Given the description of an element on the screen output the (x, y) to click on. 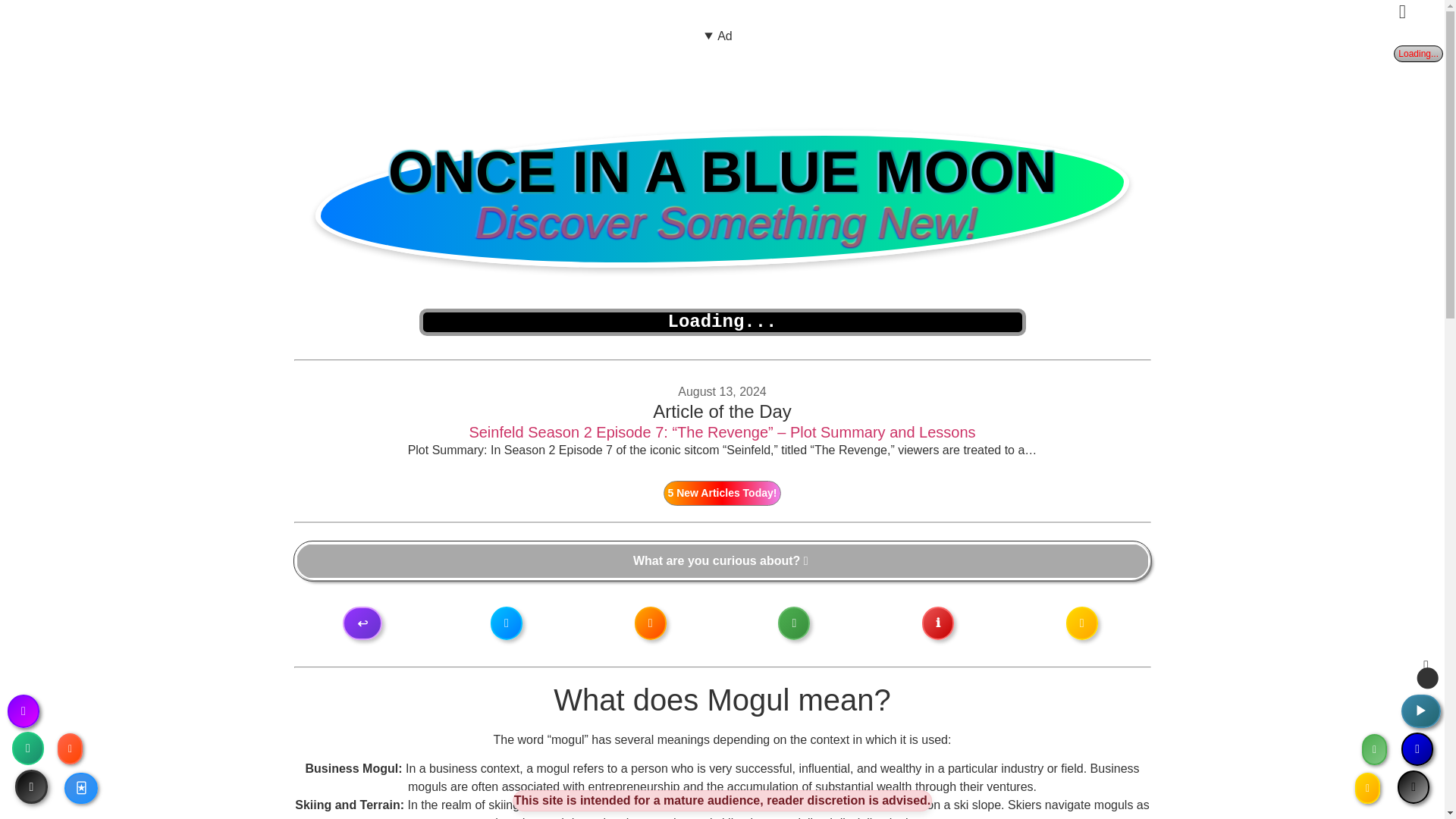
5 New Articles Today! (722, 492)
Advertisement (718, 79)
Search (722, 561)
